Given the description of an element on the screen output the (x, y) to click on. 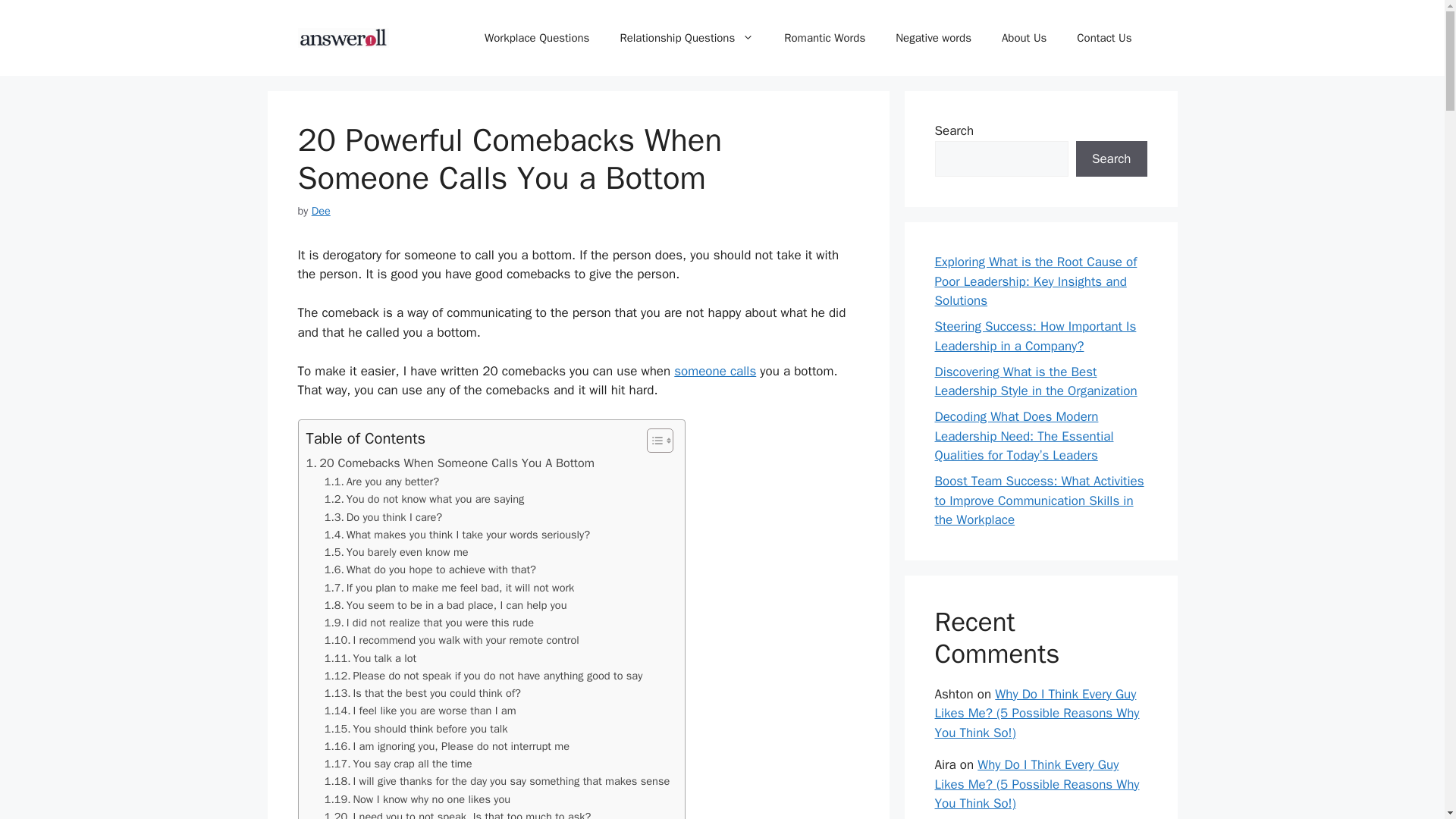
Now I know why no one likes you (417, 799)
What makes you think I take your words seriously? (456, 534)
20 Comebacks When Someone Calls You A Bottom (449, 463)
You do not know what you are saying (424, 498)
I need you to not speak, Is that too much to ask? (457, 813)
I am ignoring you, Please do not interrupt me (446, 746)
You do not know what you are saying (424, 498)
Please do not speak if you do not have anything good to say (483, 675)
I feel like you are worse than I am (420, 710)
20 Comebacks When Someone Calls You A Bottom (449, 463)
